Given the description of an element on the screen output the (x, y) to click on. 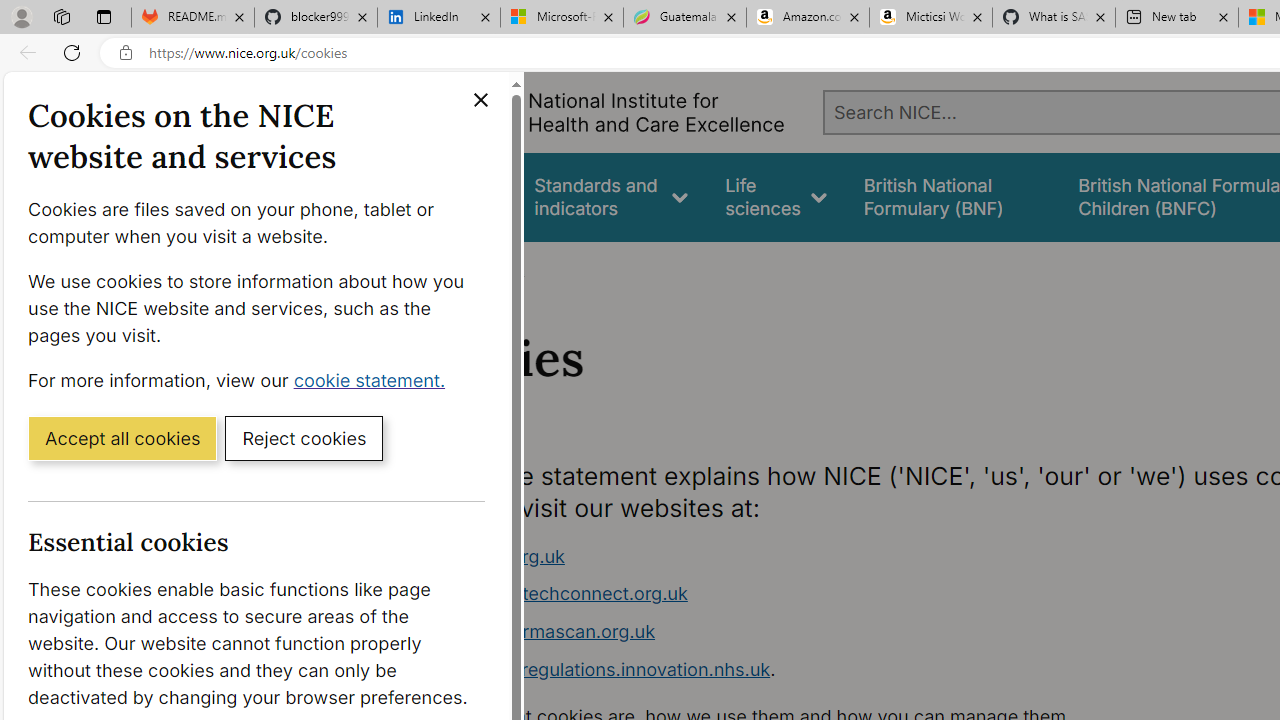
www.ukpharmascan.org.uk (538, 631)
www.digitalregulations.innovation.nhs.uk. (796, 669)
www.ukpharmascan.org.uk (796, 632)
Home> (433, 268)
Close cookie banner (480, 99)
